Given the description of an element on the screen output the (x, y) to click on. 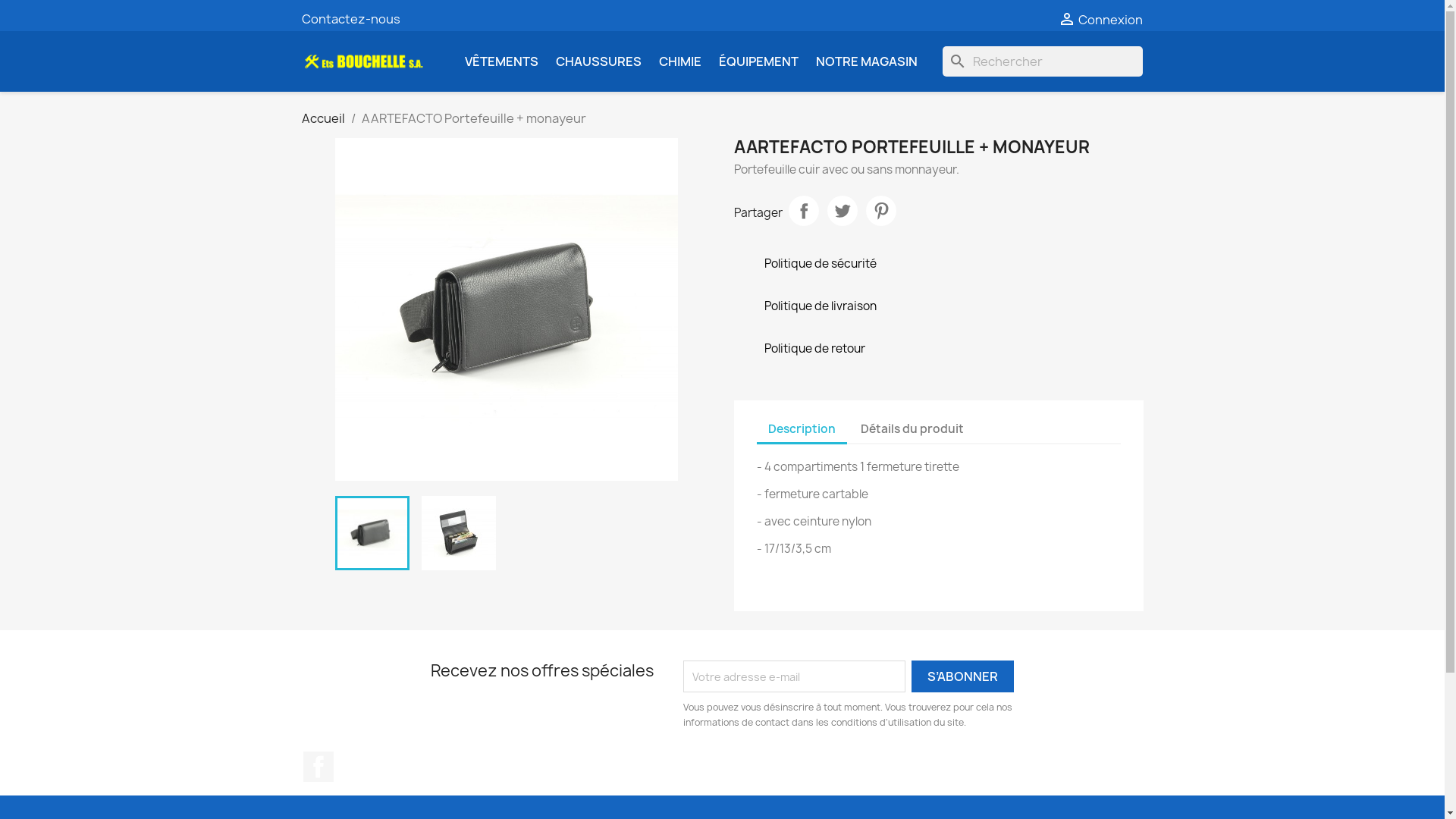
Facebook Element type: text (318, 766)
NOTRE MAGASIN Element type: text (866, 61)
Description Element type: text (801, 429)
CHAUSSURES Element type: text (597, 61)
Accueil Element type: text (323, 117)
Partager Element type: text (803, 210)
CHIMIE Element type: text (679, 61)
Contactez-nous Element type: text (350, 18)
Pinterest Element type: text (881, 210)
Tweet Element type: text (841, 210)
